Given the description of an element on the screen output the (x, y) to click on. 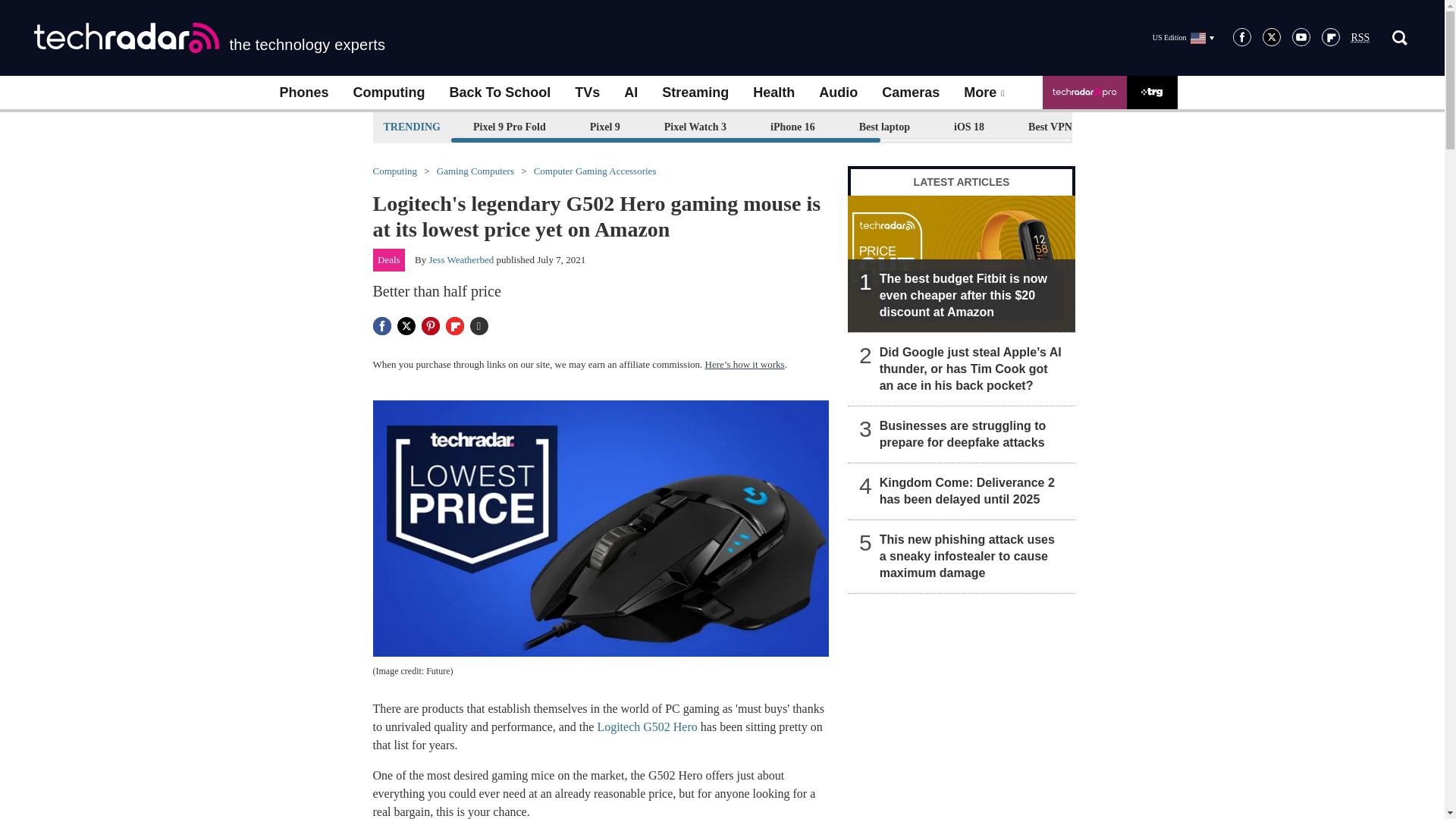
the technology experts (209, 38)
Really Simple Syndication (1360, 37)
Audio (837, 92)
Computing (389, 92)
US Edition (1182, 37)
Back To School (499, 92)
Health (773, 92)
Streaming (695, 92)
TVs (586, 92)
AI (630, 92)
